Given the description of an element on the screen output the (x, y) to click on. 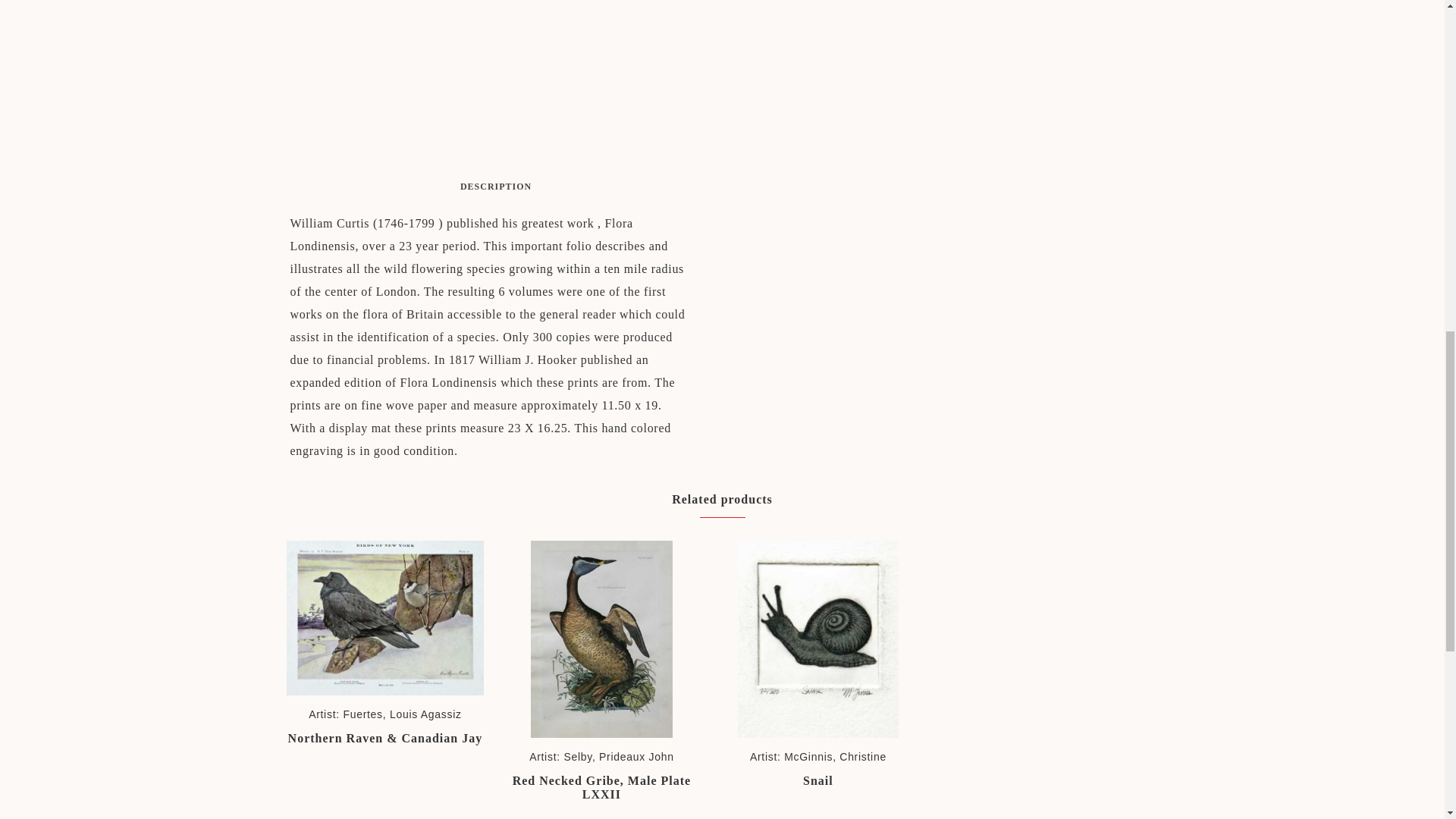
Fuertes, Louis Agassiz (401, 714)
McGinnis, Christine (835, 756)
DESCRIPTION (495, 186)
Selby, Prideaux John (617, 756)
